Given the description of an element on the screen output the (x, y) to click on. 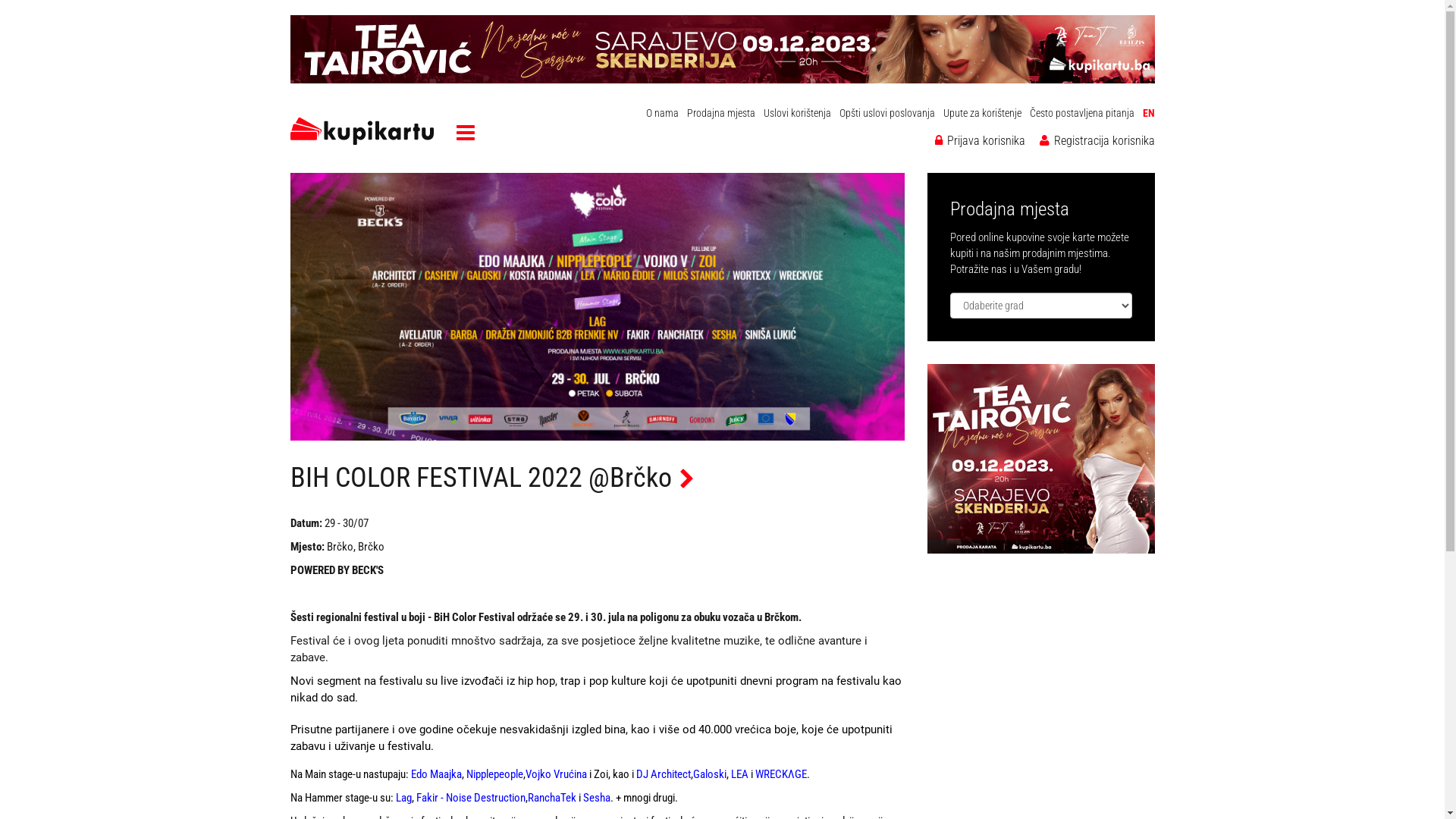
Edo Maajka Element type: text (436, 774)
O nama Element type: text (662, 112)
Nipplepeople Element type: text (493, 774)
Lag Element type: text (403, 797)
Sesha Element type: text (595, 797)
3rd party ad content Element type: hover (1040, 458)
LEA Element type: text (739, 774)
Galoski Element type: text (709, 774)
3rd party ad content Element type: hover (721, 49)
Prijava korisnika Element type: text (979, 140)
DJ Architect Element type: text (662, 774)
RanchaTek Element type: text (551, 797)
Registracija korisnika Element type: text (1096, 140)
Fakir - Noise Destruction Element type: text (469, 797)
Prodajna mjesta Element type: text (721, 112)
EN Element type: text (1148, 112)
